Given the description of an element on the screen output the (x, y) to click on. 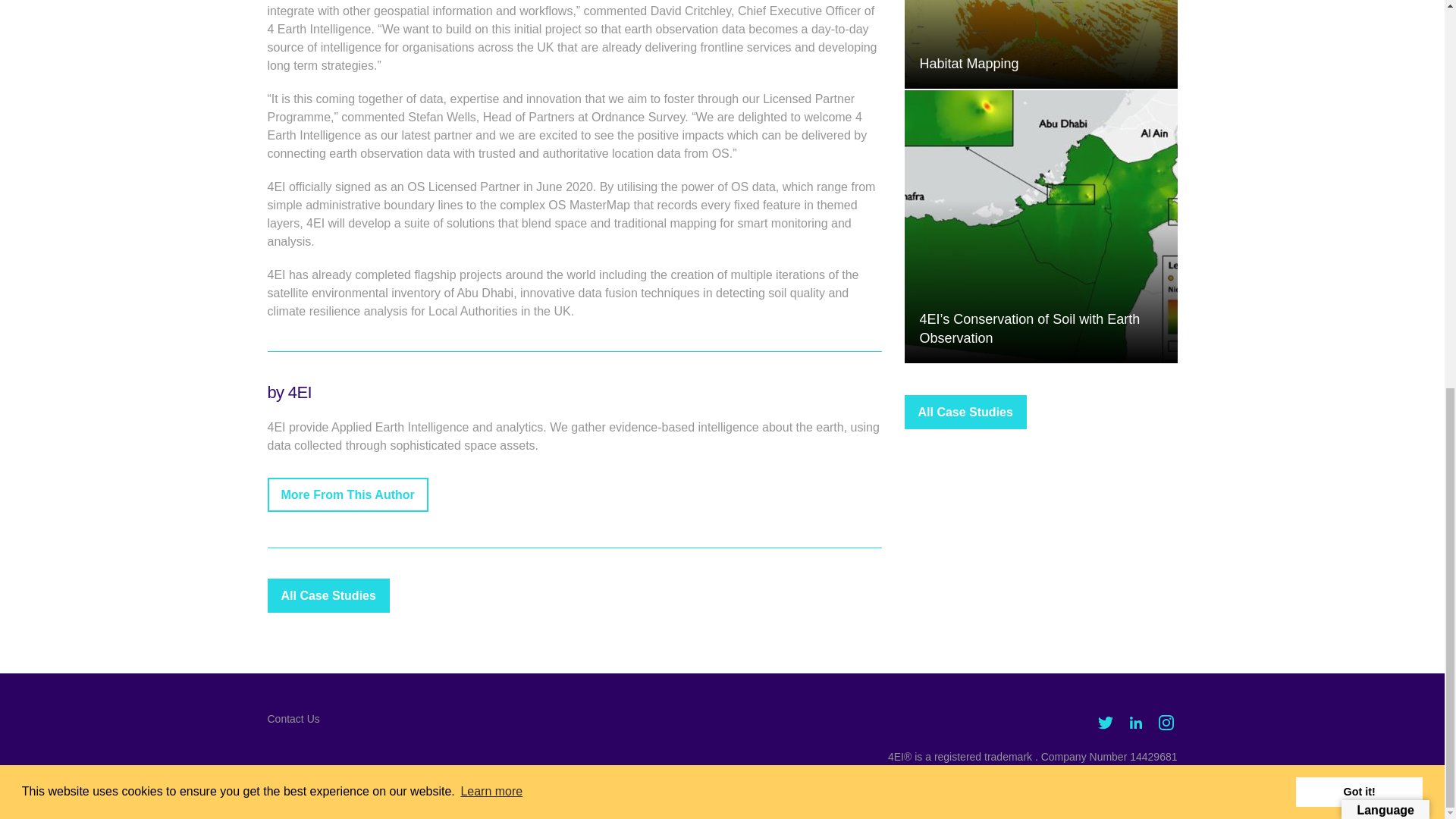
All Case Studies (327, 595)
Instagram (1165, 722)
More From This Author (347, 494)
Twitter (1104, 722)
Got it! (1358, 56)
Contact Us (292, 718)
Learn more (491, 56)
All Case Studies (965, 411)
Habitat Mapping (1040, 44)
LinkedIn (1135, 722)
